Given the description of an element on the screen output the (x, y) to click on. 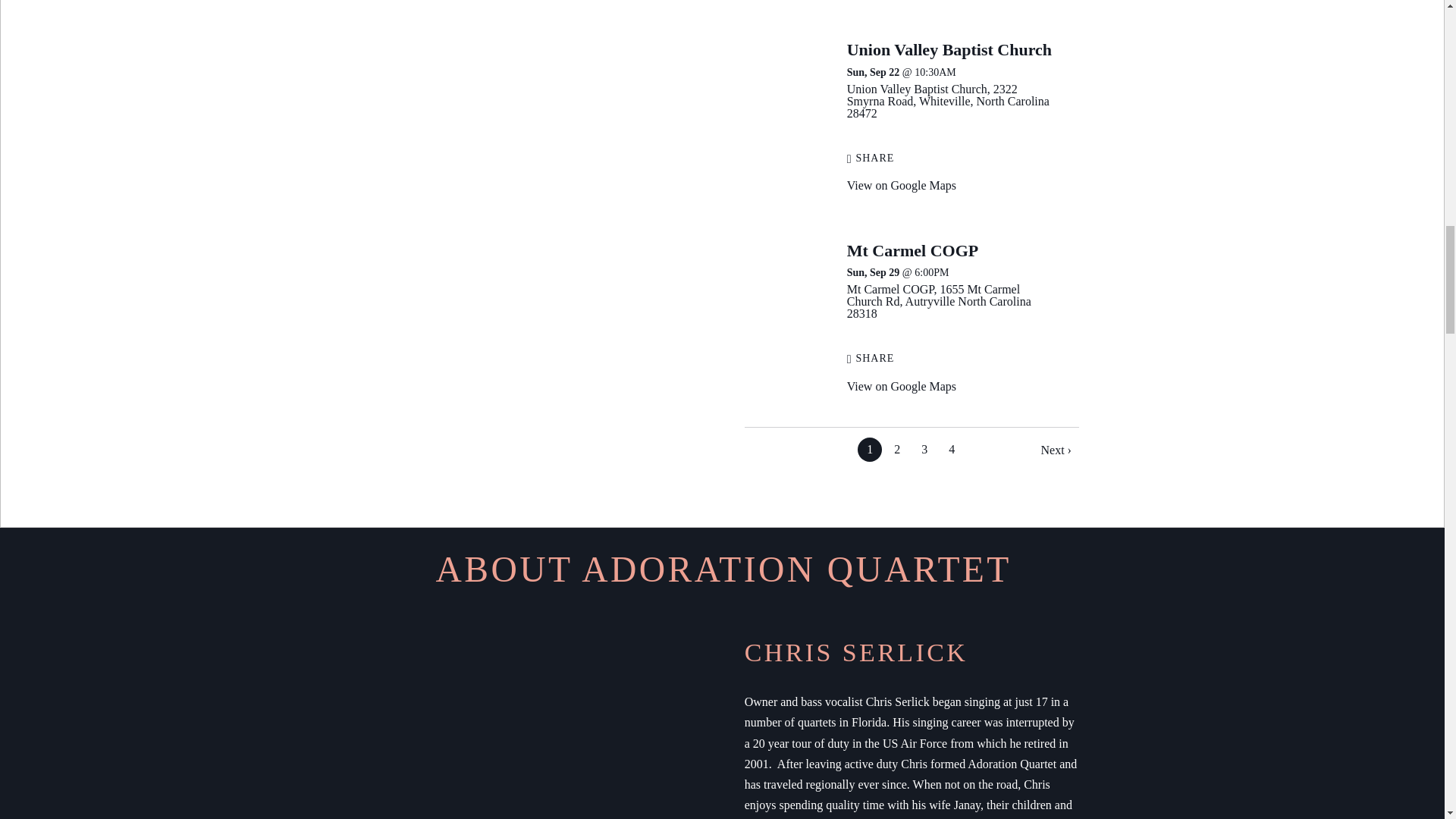
View on Google Maps (938, 301)
2 (896, 449)
Mt Carmel COGP (912, 250)
View on Google Maps (901, 185)
View on Google Maps (948, 100)
SHARE (871, 158)
3 (924, 449)
View on Google Maps (901, 386)
Union Valley Baptist Church (949, 49)
